Given the description of an element on the screen output the (x, y) to click on. 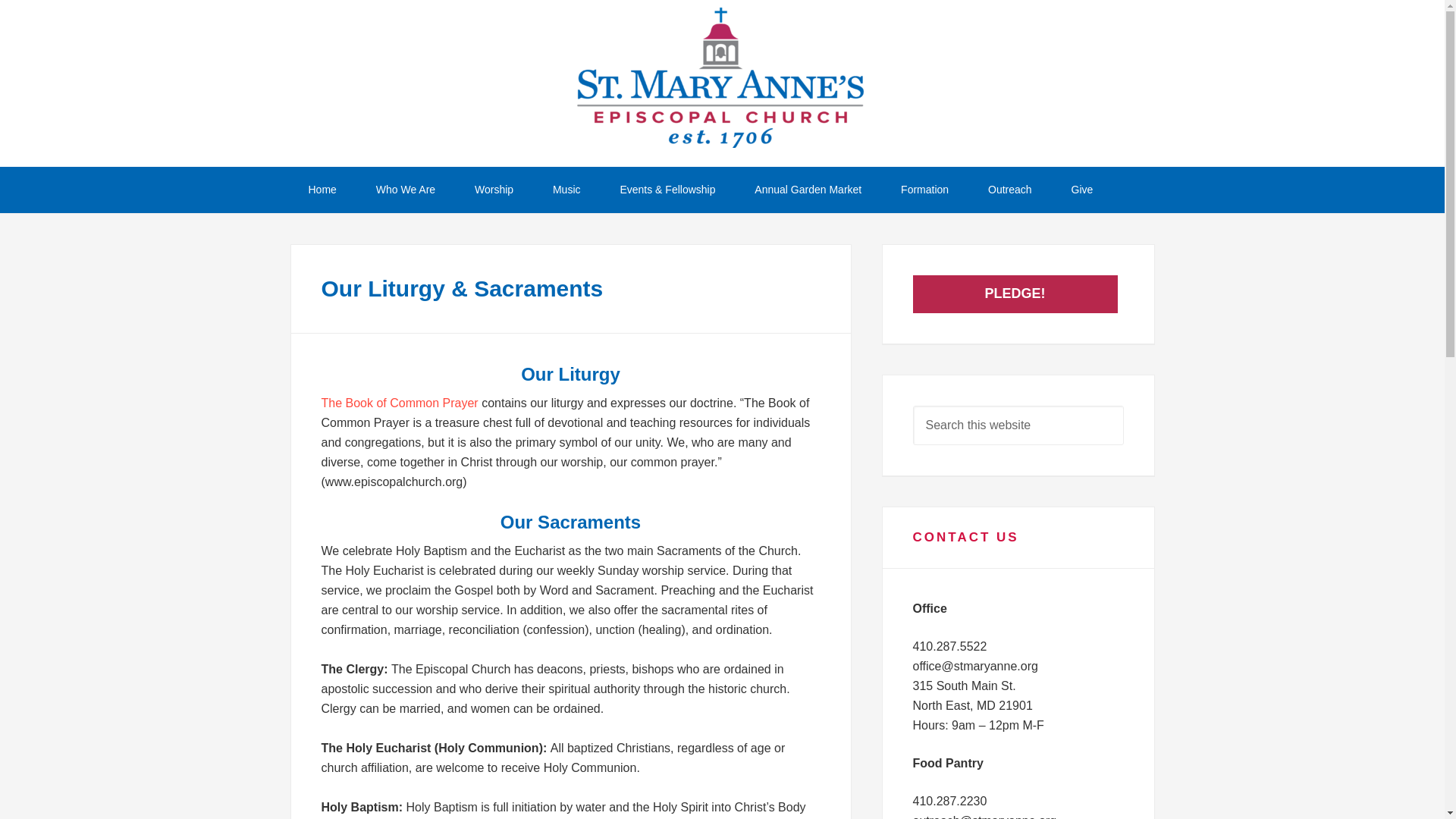
Music (566, 189)
Who We Are (405, 189)
Worship (494, 189)
Home (321, 189)
